Given the description of an element on the screen output the (x, y) to click on. 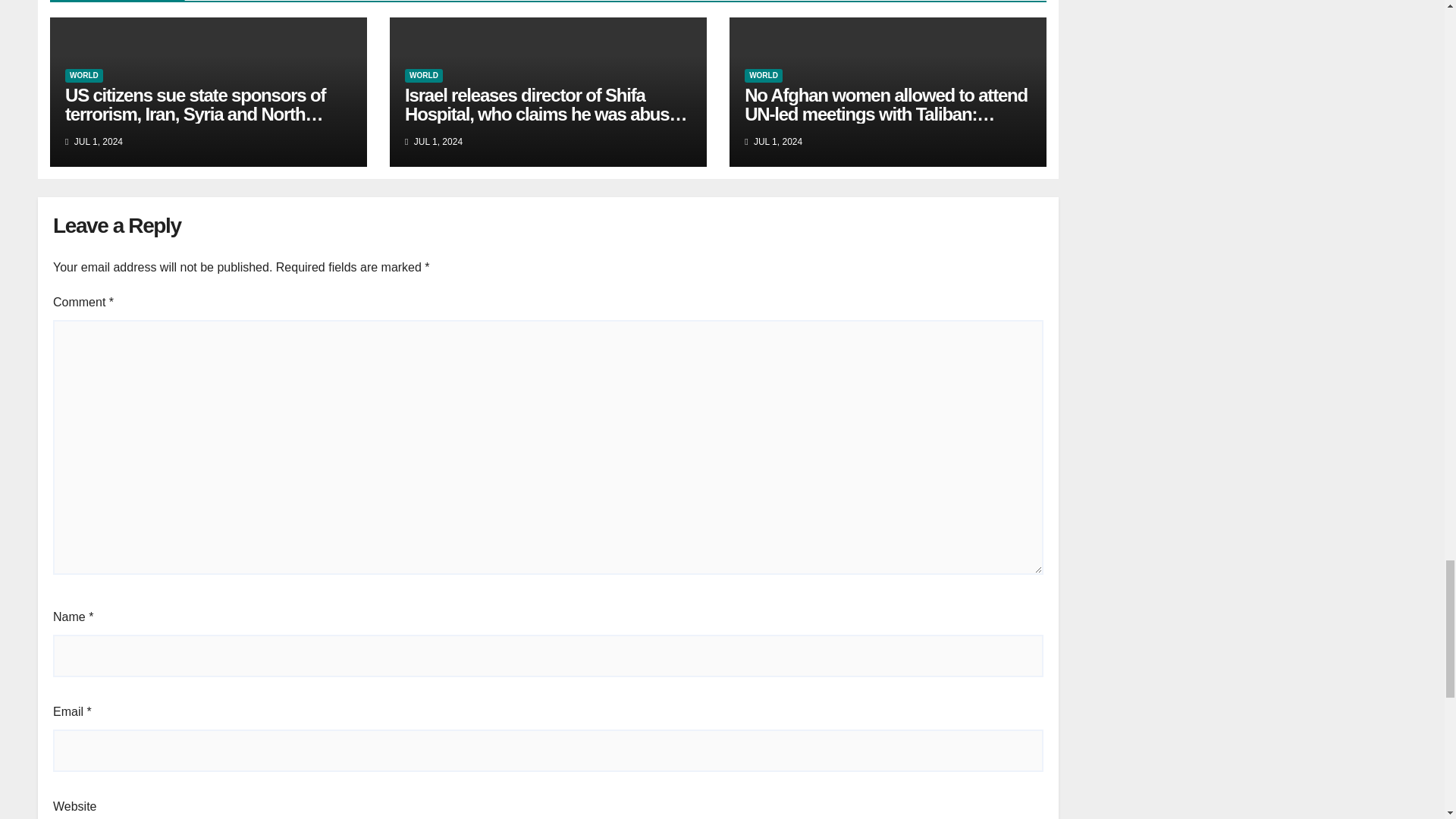
WORLD (84, 75)
WORLD (763, 75)
WORLD (423, 75)
